Given the description of an element on the screen output the (x, y) to click on. 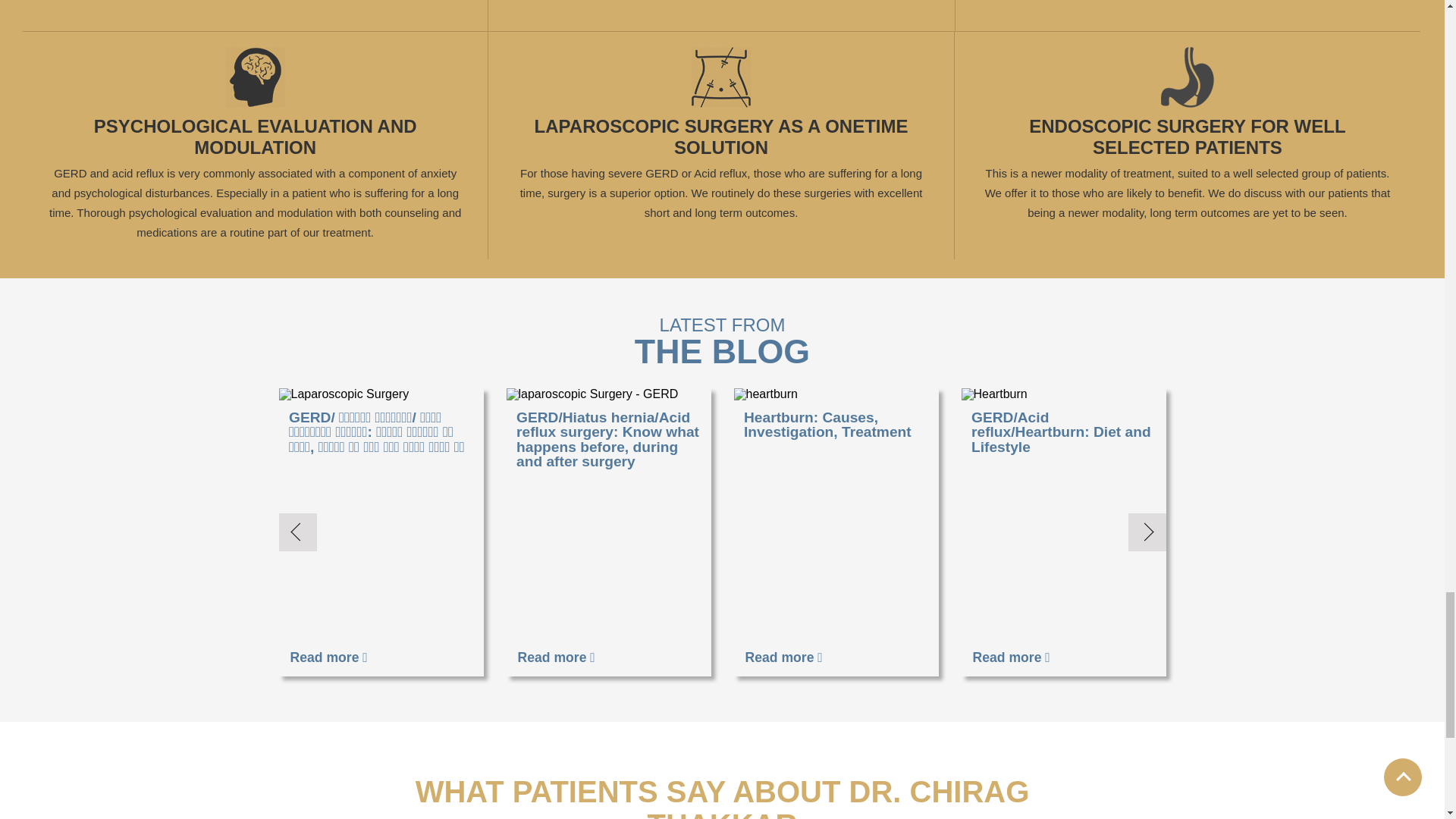
Read more (556, 657)
Read more (783, 657)
Read more (1010, 657)
Read more (328, 657)
